Given the description of an element on the screen output the (x, y) to click on. 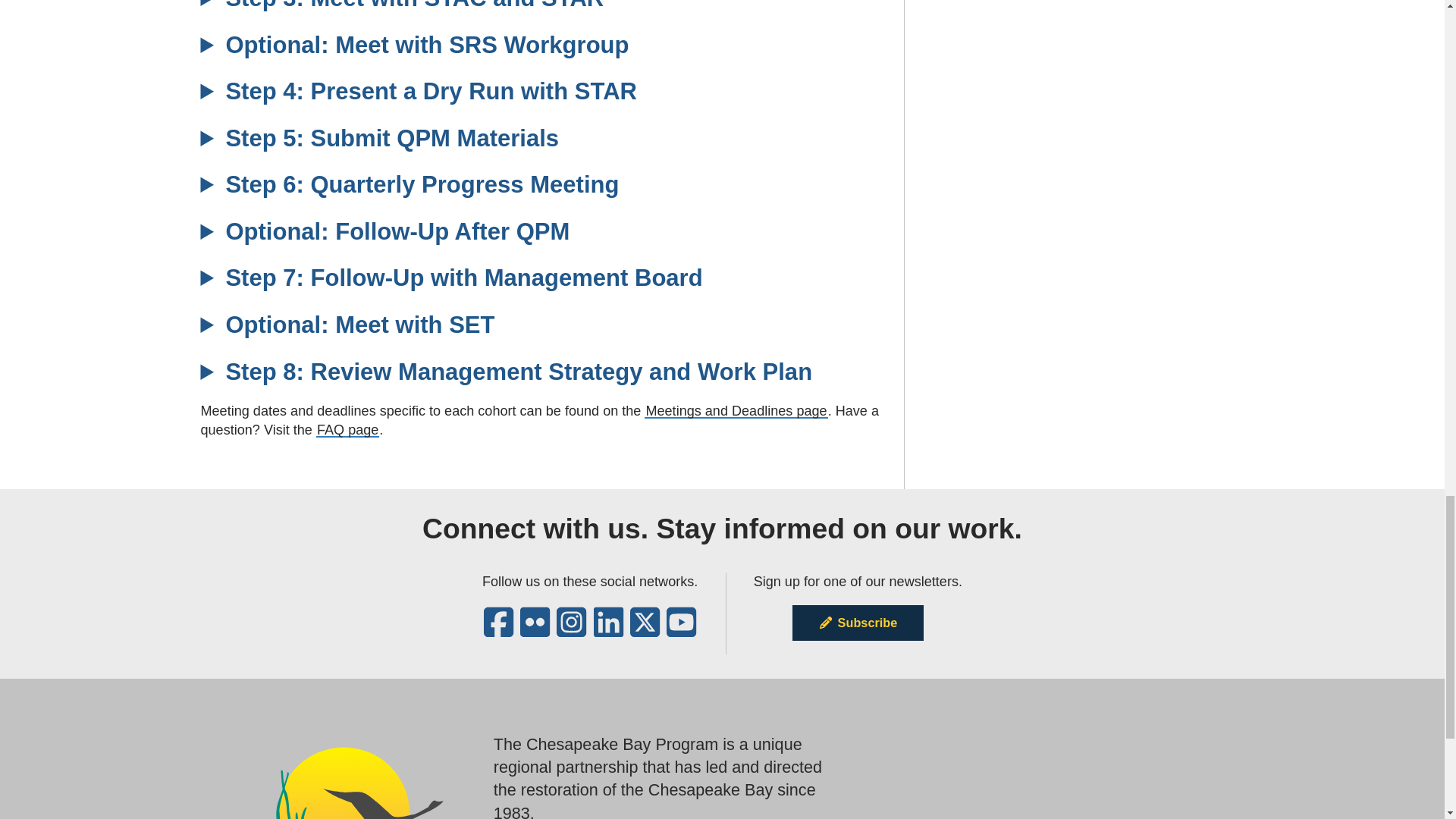
Visit us on YouTube (680, 630)
Meetings and Deadlines page (736, 410)
Subscribe (857, 622)
Follow us on Instagram (571, 630)
Follow us on LinkedIn (608, 630)
FAQ page (346, 429)
View our photos on Flickr (534, 630)
Visit us on Facebook (498, 630)
Follow us on X, formerly known as Twitter (644, 630)
